Given the description of an element on the screen output the (x, y) to click on. 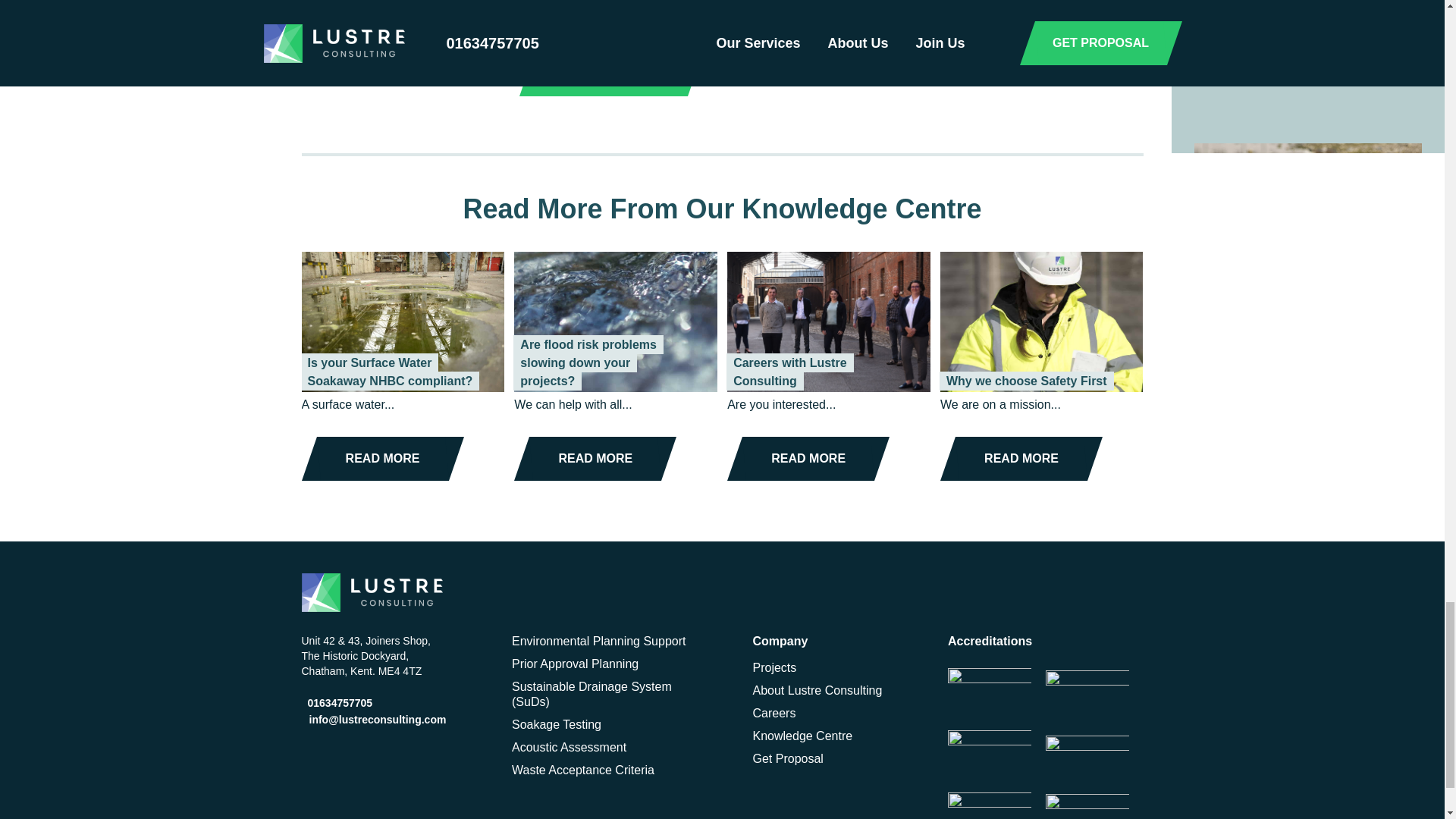
READ MORE (1021, 458)
Is your Surface Water Soakaway NHBC compliant? (390, 371)
Contact us (547, 15)
Are flood risk problems slowing down your projects? (587, 362)
Careers with Lustre Consulting (789, 371)
READ MORE (382, 458)
READ MORE (595, 458)
Why we choose Safety First (1026, 380)
01634757705 (336, 702)
GET YOUR PROPOSAL (610, 74)
